Given the description of an element on the screen output the (x, y) to click on. 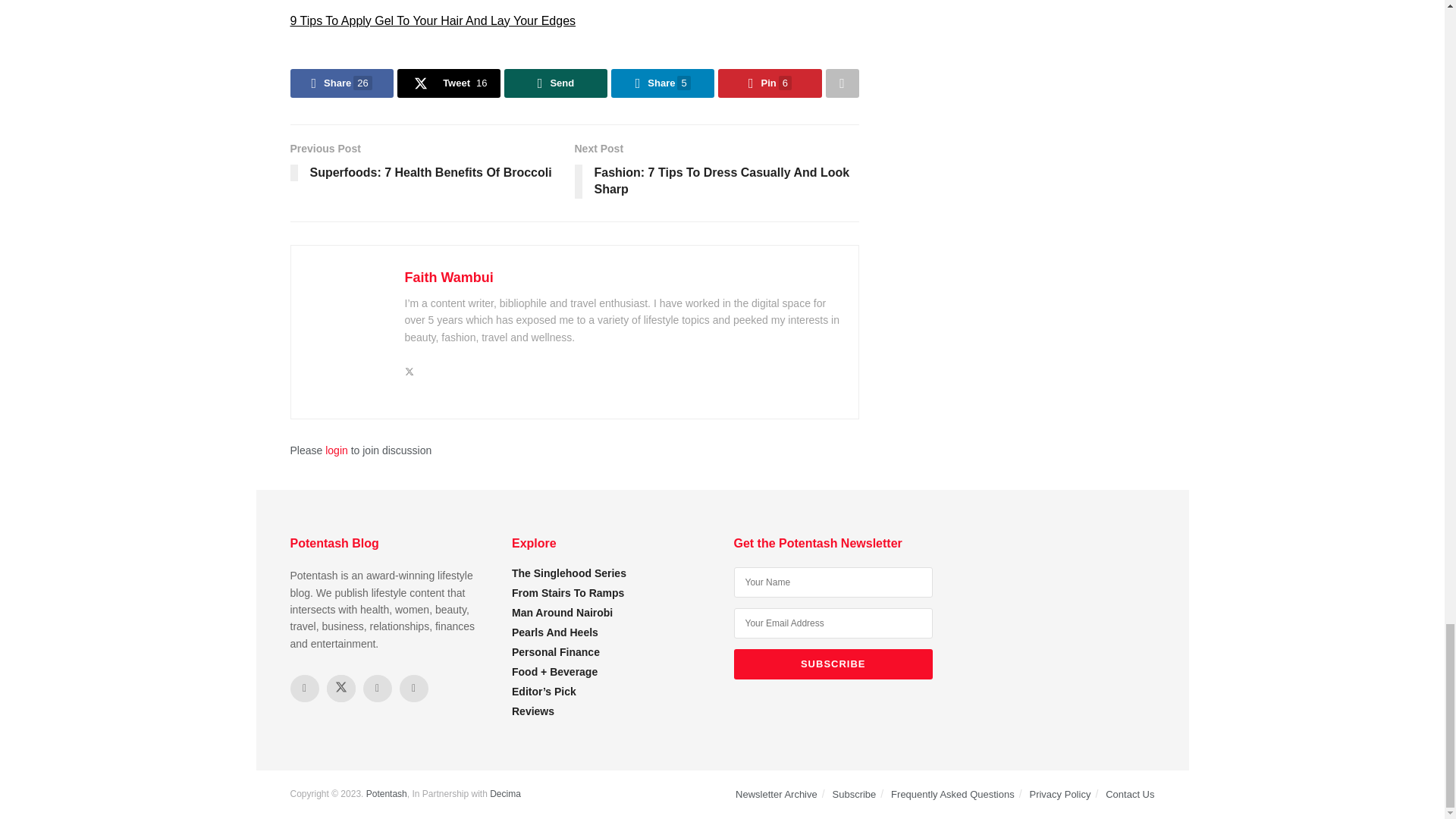
Subscribe (833, 664)
